Given the description of an element on the screen output the (x, y) to click on. 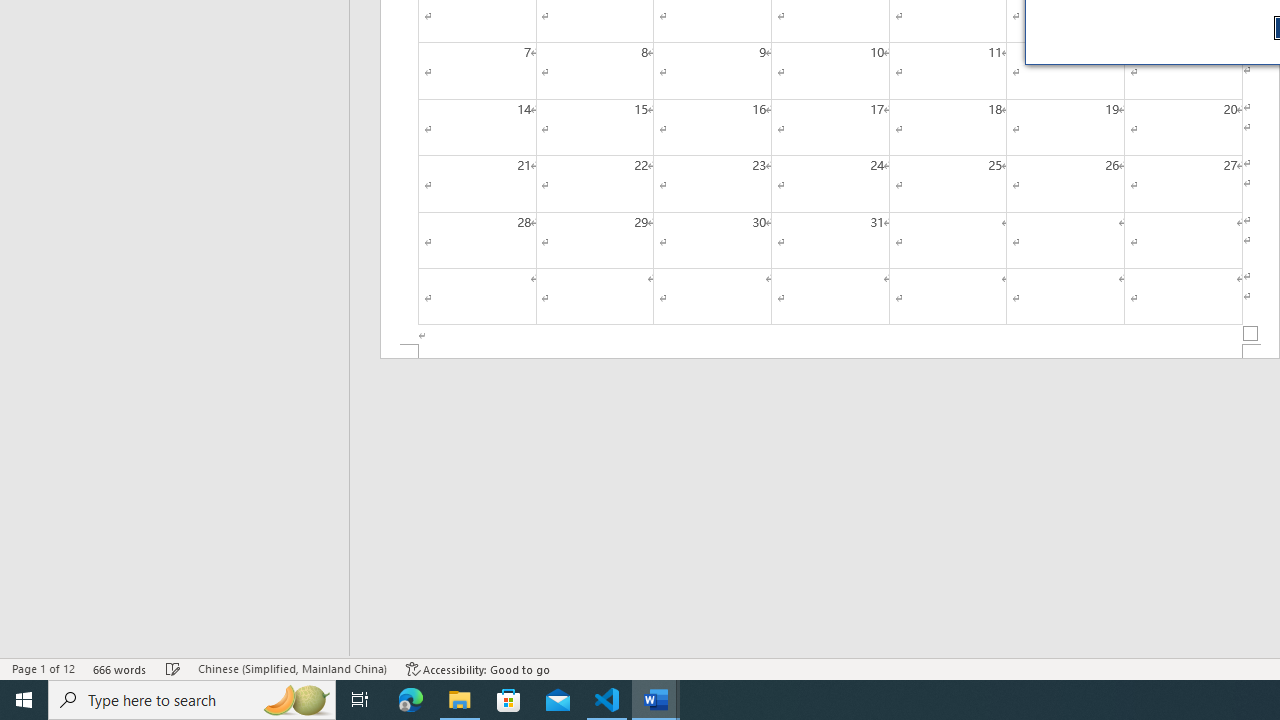
Language Chinese (Simplified, Mainland China) (292, 668)
Accessibility Checker Accessibility: Good to go (478, 668)
Microsoft Store (509, 699)
Visual Studio Code - 1 running window (607, 699)
Word - 2 running windows (656, 699)
Task View (359, 699)
Word Count 666 words (119, 668)
Search highlights icon opens search home window (295, 699)
Page Number Page 1 of 12 (43, 668)
File Explorer - 1 running window (460, 699)
Spelling and Grammar Check Checking (173, 668)
Type here to search (191, 699)
Footer -Section 1- (830, 351)
